Given the description of an element on the screen output the (x, y) to click on. 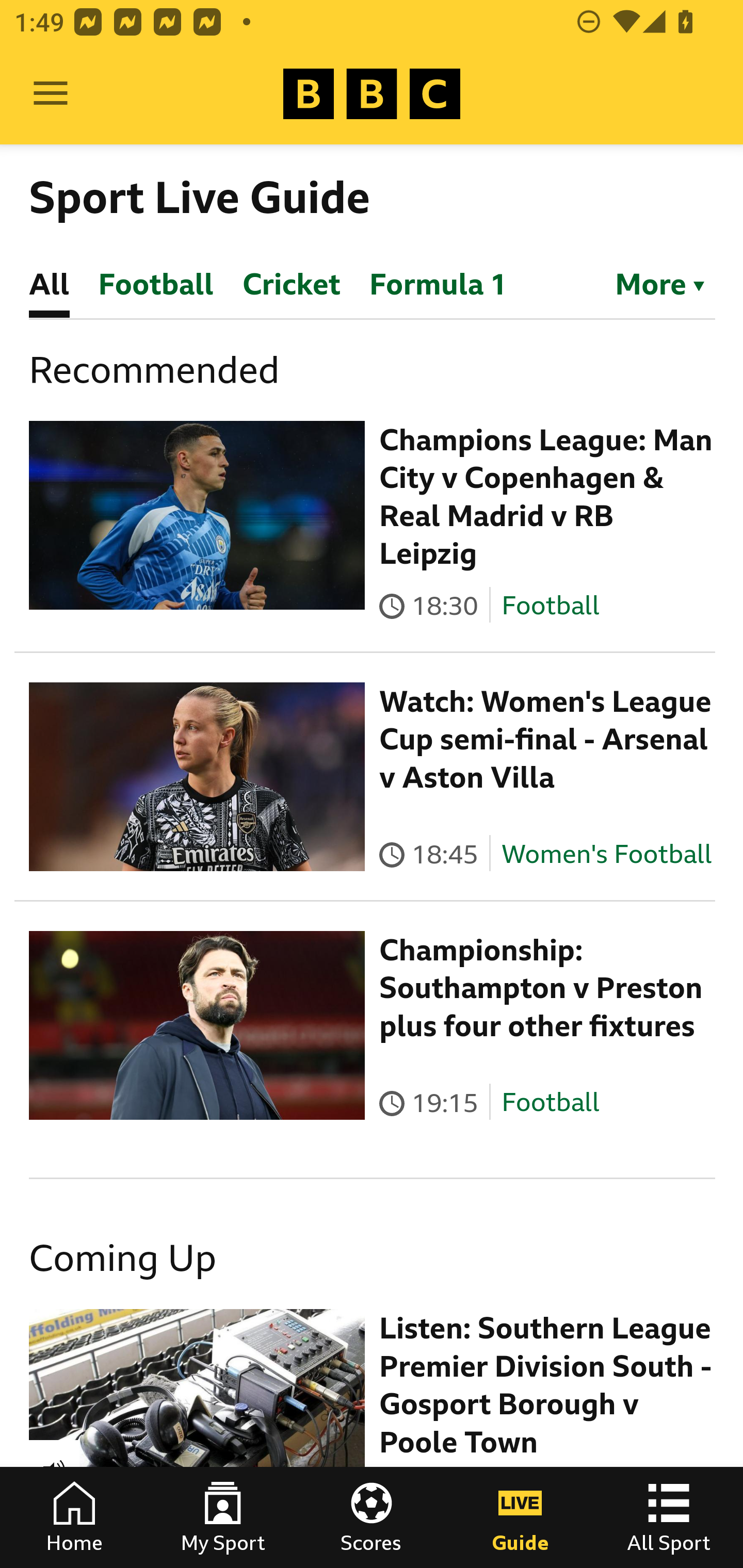
Open Menu (50, 93)
Football (550, 604)
Women's Football (606, 853)
Football (550, 1102)
Home (74, 1517)
My Sport (222, 1517)
Scores (371, 1517)
All Sport (668, 1517)
